Given the description of an element on the screen output the (x, y) to click on. 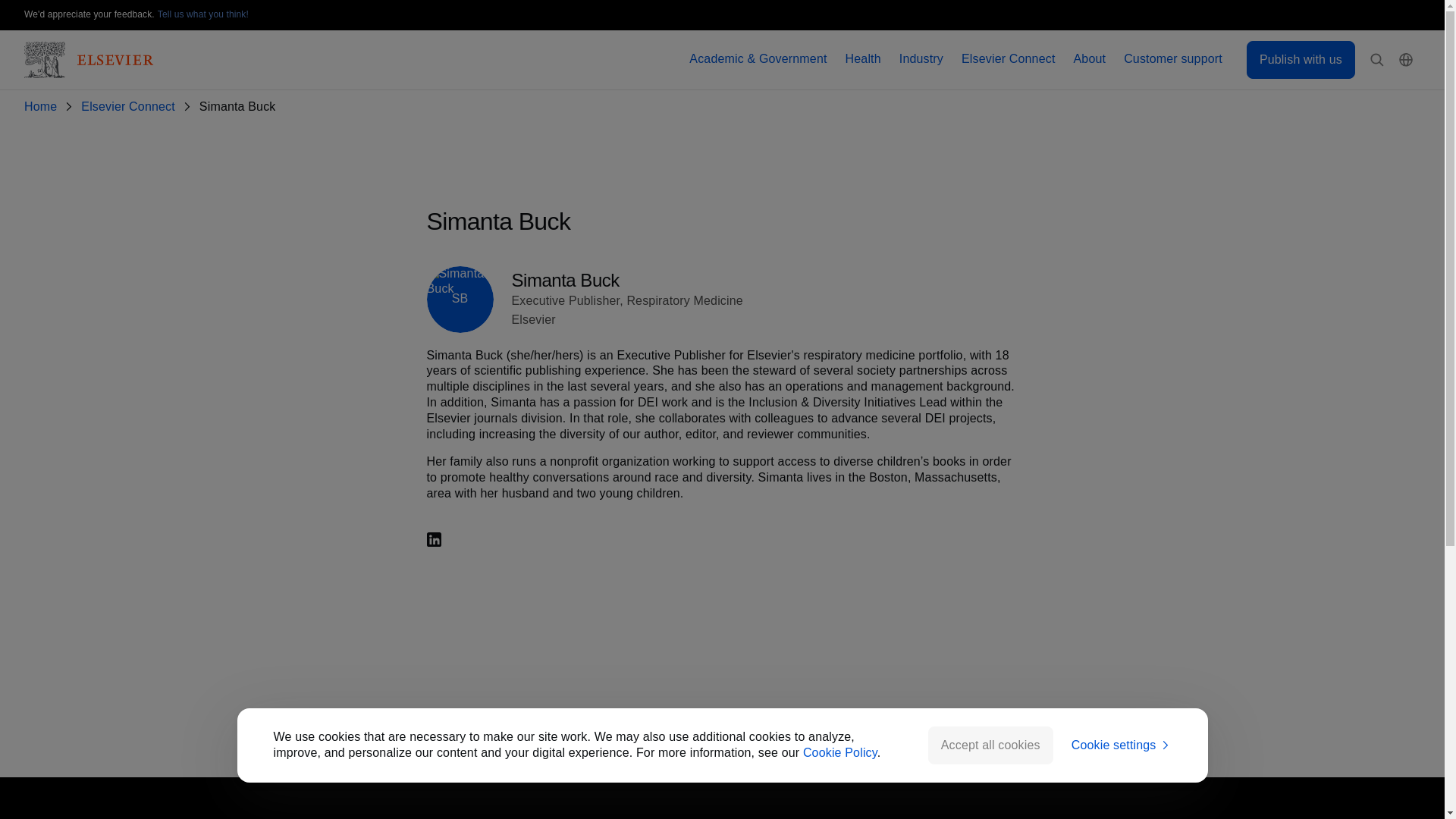
About (1090, 59)
Open Search (1376, 59)
Elsevier Connect (1007, 59)
Publish with us (1300, 59)
Health (862, 59)
Accept all cookies (990, 745)
Cookie settings (1121, 745)
Home (43, 107)
Cookie Policy (840, 752)
Location Selector (1406, 59)
Customer support (1173, 59)
Industry (921, 59)
Elsevier Connect (130, 107)
